Given the description of an element on the screen output the (x, y) to click on. 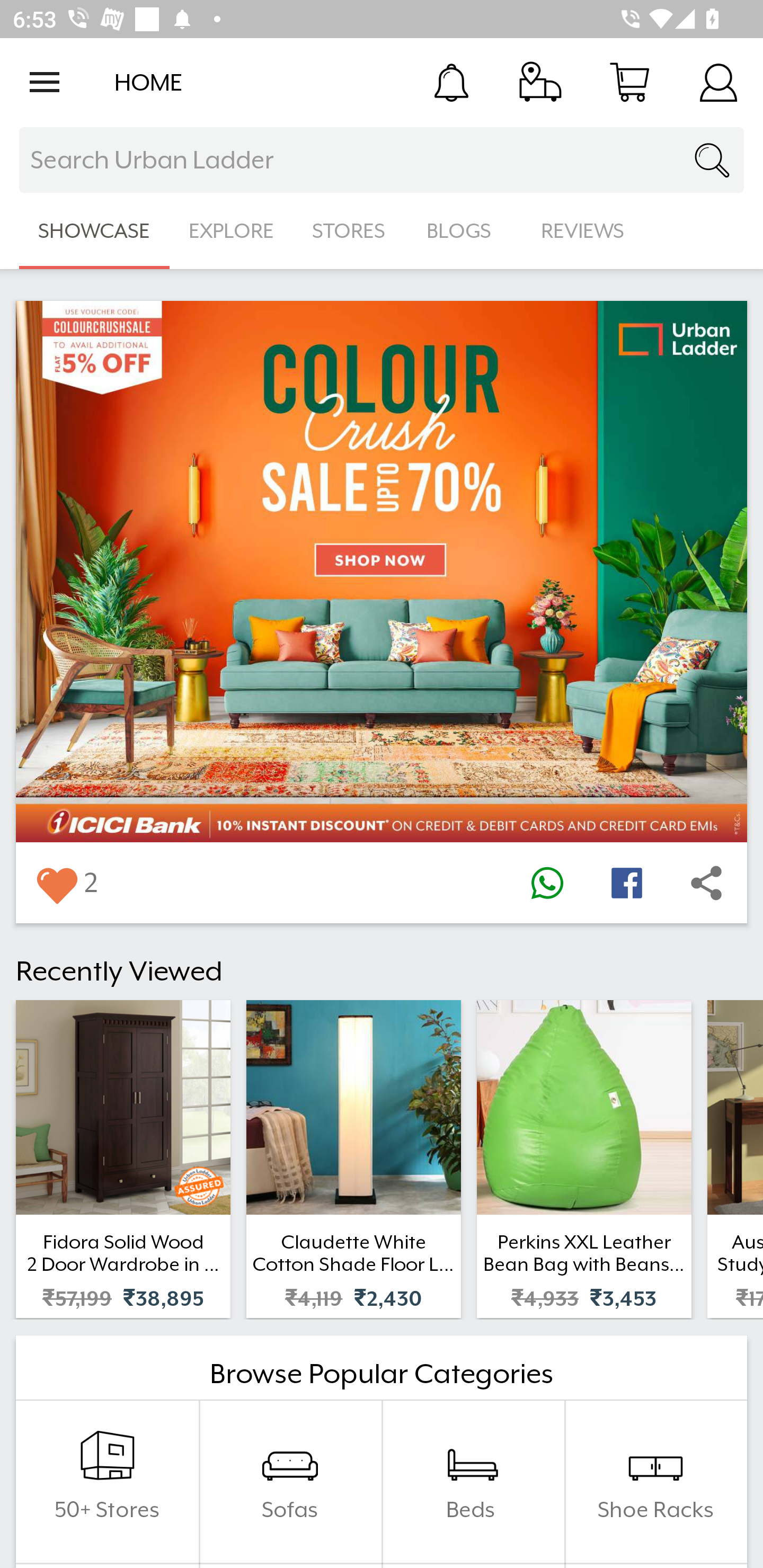
Open navigation drawer (44, 82)
Notification (450, 81)
Track Order (540, 81)
Cart (629, 81)
Account Details (718, 81)
Search Urban Ladder  (381, 159)
SHOWCASE (94, 230)
EXPLORE (230, 230)
STORES (349, 230)
BLOGS (464, 230)
REVIEWS (582, 230)
 (55, 882)
 (547, 882)
 (626, 882)
 (706, 882)
50+ Stores (106, 1481)
Sofas (289, 1481)
Beds  (473, 1481)
Shoe Racks (655, 1481)
